Given the description of an element on the screen output the (x, y) to click on. 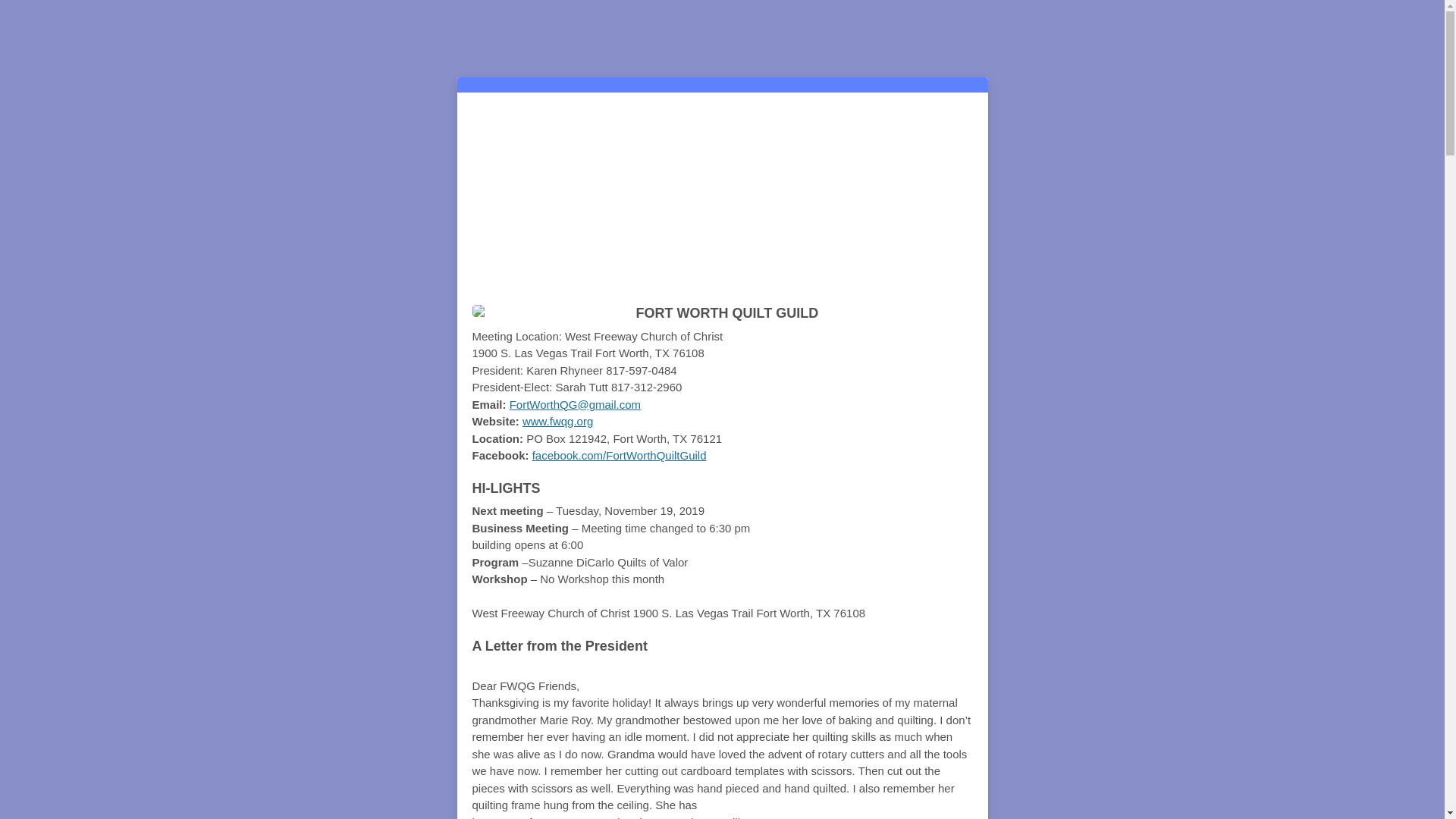
www.fwqg.org (557, 420)
